Given the description of an element on the screen output the (x, y) to click on. 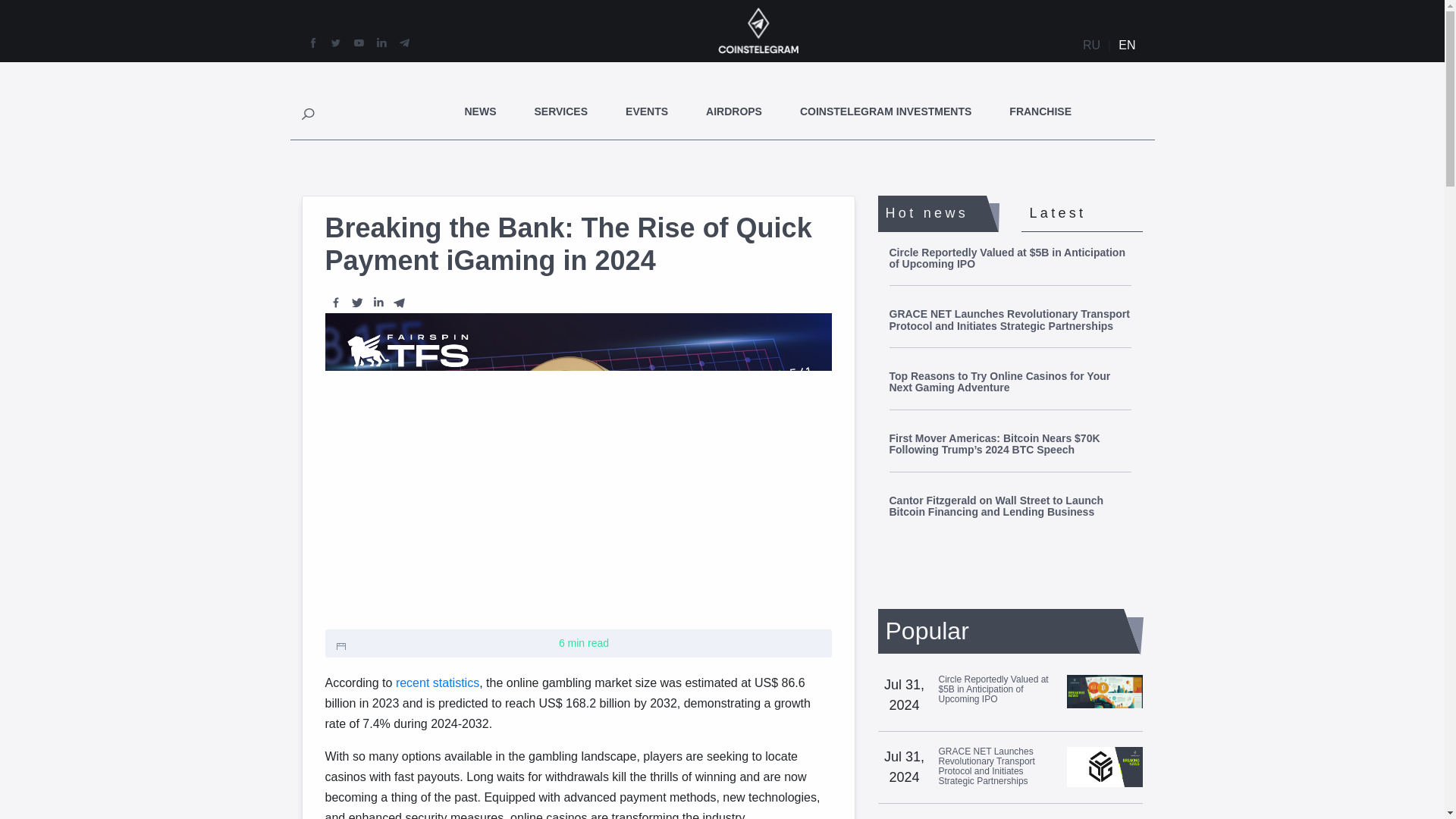
Linkedin (377, 302)
Twitter (356, 302)
FRANCHISE (1040, 110)
Facebook (334, 302)
EVENTS (647, 110)
AIRDROPS (733, 110)
Telegram (398, 302)
COINSTELEGRAM INVESTMENTS (885, 110)
NEWS (480, 110)
RU (1091, 45)
